Given the description of an element on the screen output the (x, y) to click on. 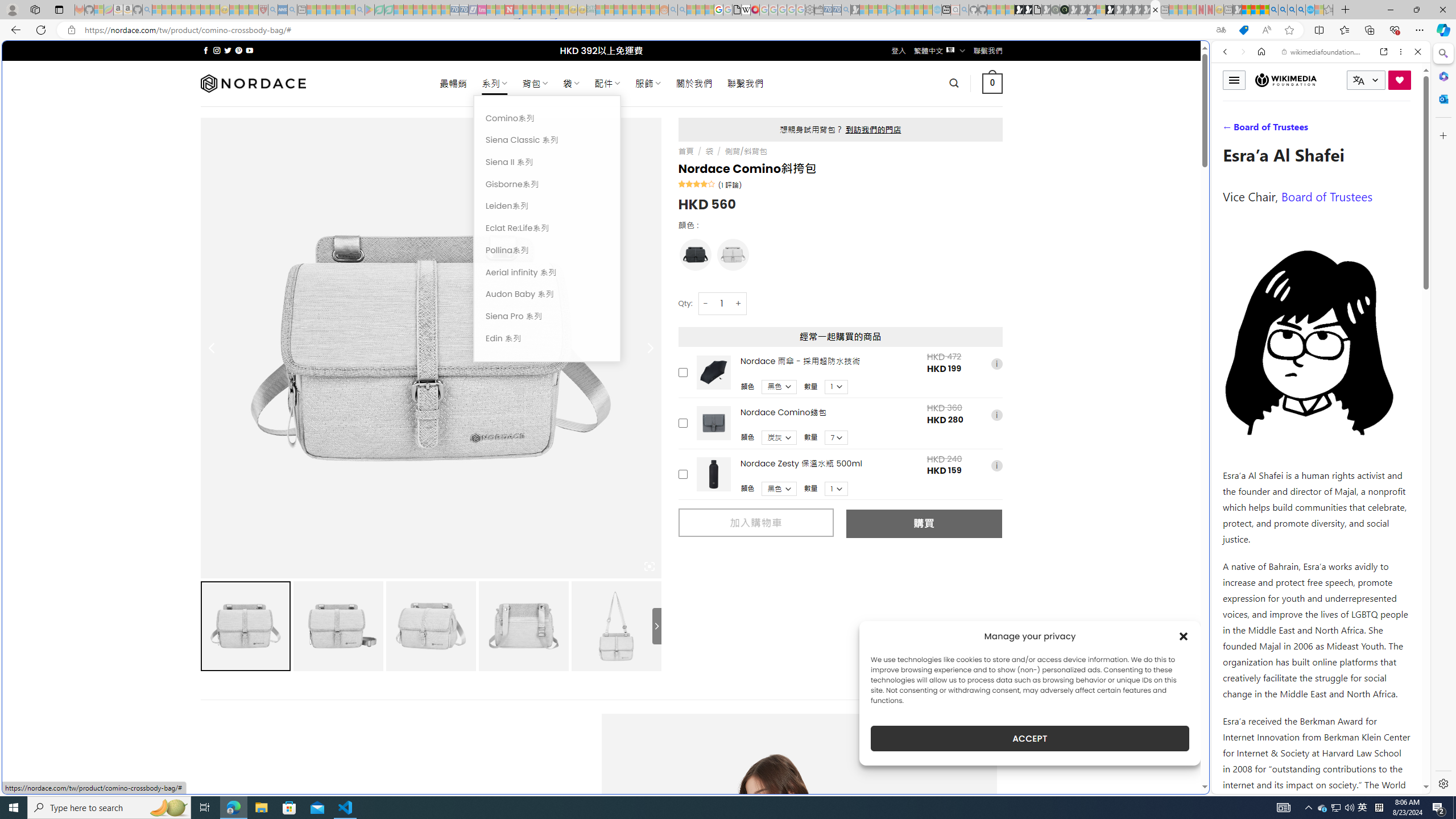
MSN (1118, 536)
Pets - MSN - Sleeping (340, 9)
Wallet - Sleeping (818, 9)
